Given the description of an element on the screen output the (x, y) to click on. 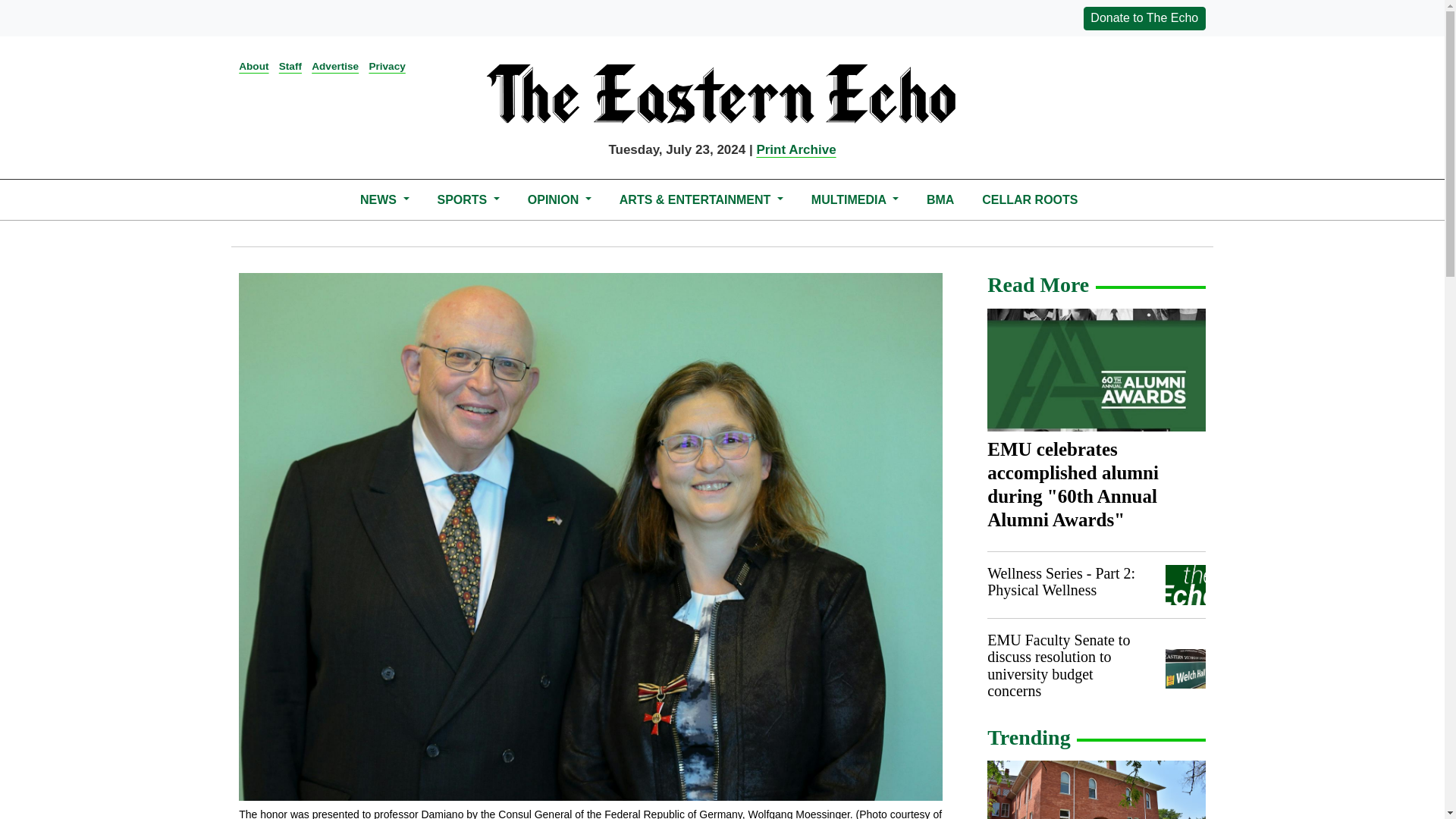
Staff (290, 66)
Advertise (334, 66)
SPORTS (467, 199)
Wellness Series - Part 2: Physical Wellness (1061, 581)
OPINION (558, 199)
MULTIMEDIA (854, 199)
BMA (939, 199)
Print Archive (795, 149)
NEWS (383, 199)
What's the move? July 22-28 (1096, 789)
Cellar Roots (1029, 199)
Privacy (386, 66)
